Given the description of an element on the screen output the (x, y) to click on. 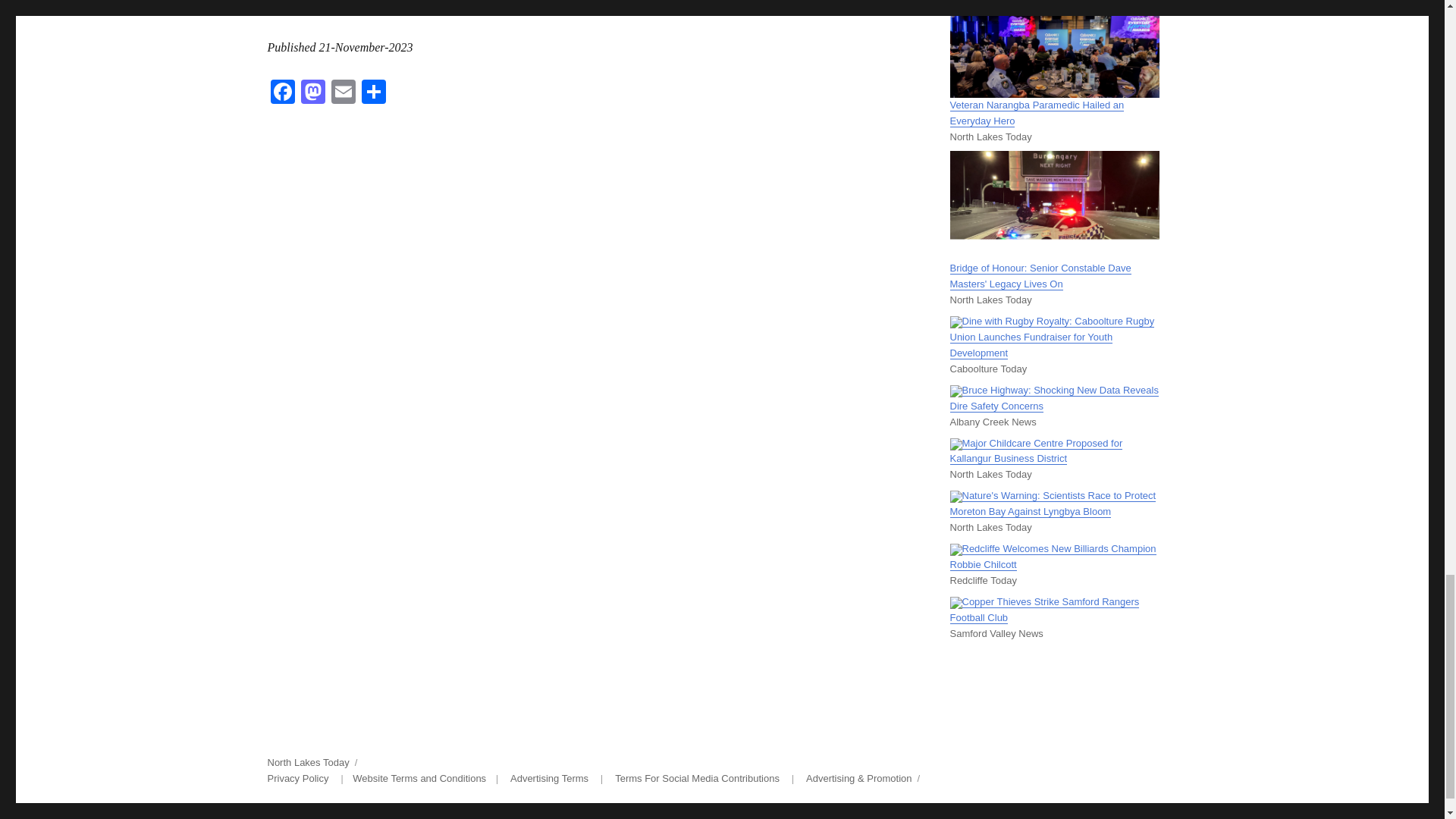
Facebook (281, 93)
Website Terms and Conditions (419, 778)
Copper Thieves Strike Samford Rangers Football Club (1043, 609)
Mastodon (312, 93)
Redcliffe Welcomes New Billiards Champion Robbie Chilcott (1052, 556)
Veteran Narangba Paramedic Hailed an Everyday Hero (1036, 112)
Privacy Policy (297, 778)
